Given the description of an element on the screen output the (x, y) to click on. 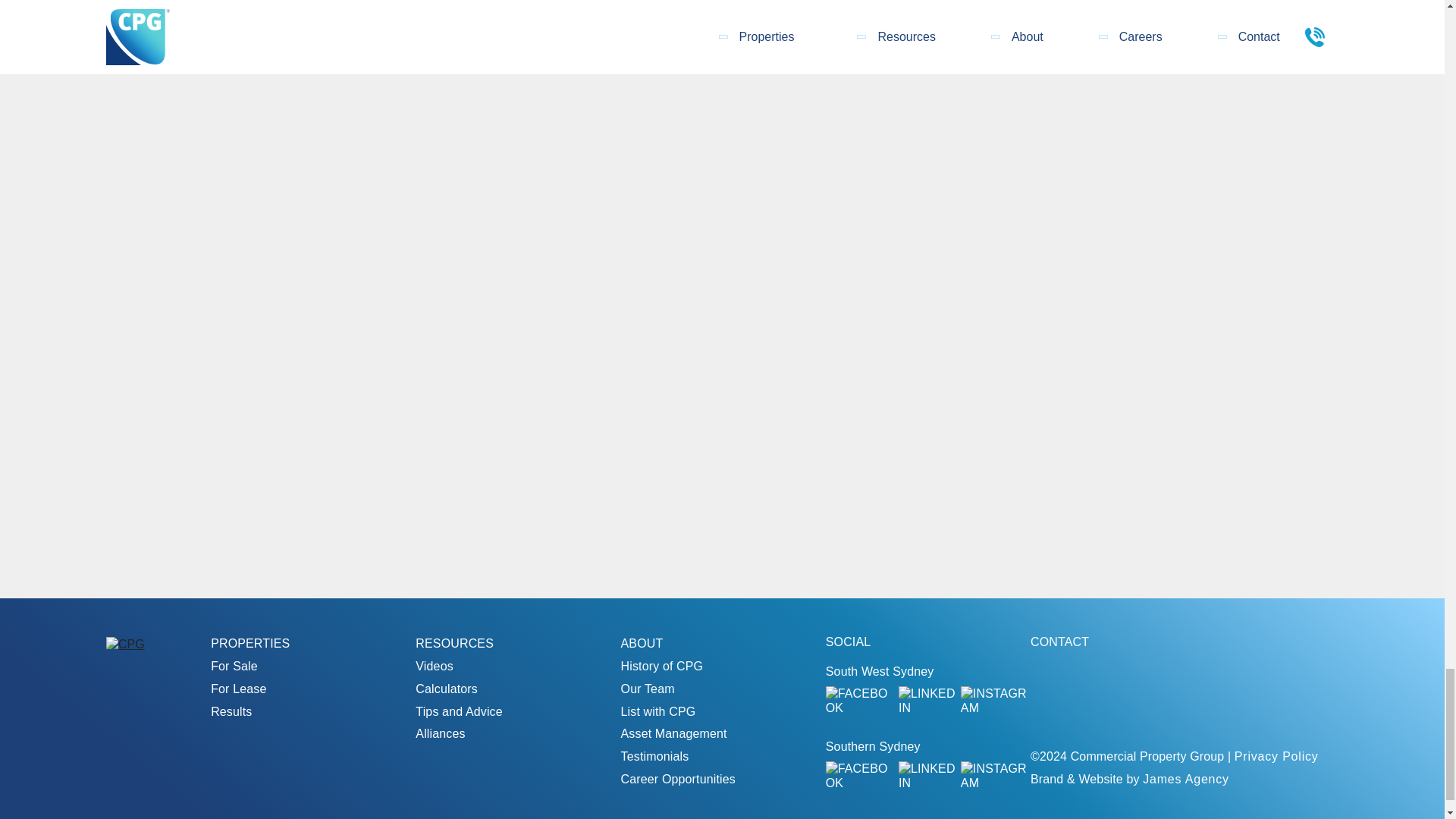
facebook (859, 700)
For Lease (238, 688)
CPG (125, 644)
For Sale (234, 666)
Instagram (996, 700)
facebook (859, 775)
LinkedIn (926, 700)
Results (231, 711)
PROPERTIES (250, 643)
LinkedIn (926, 775)
Instagram (996, 775)
